Given the description of an element on the screen output the (x, y) to click on. 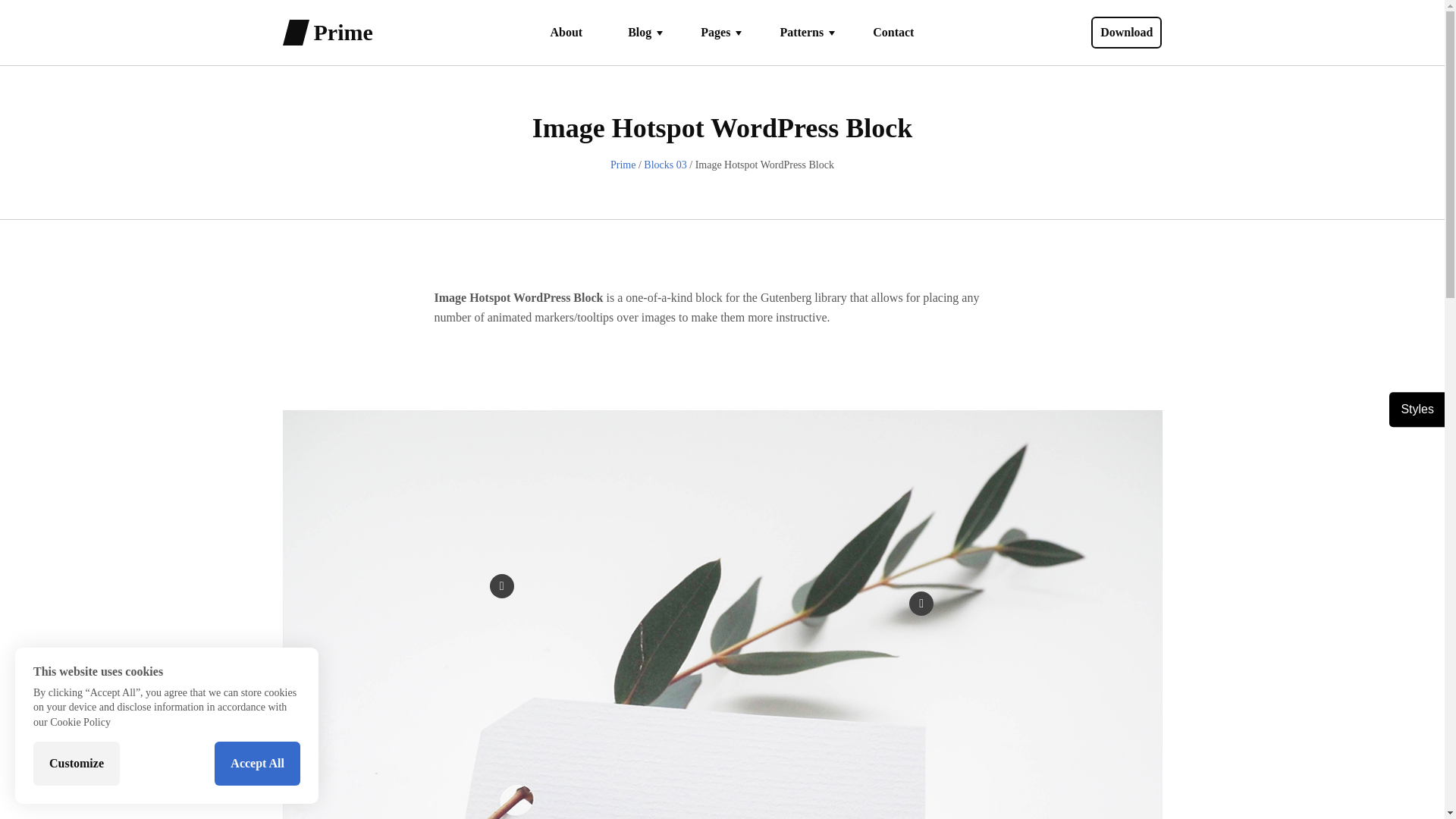
Go to Blocks 03. (664, 164)
Go to Prime. (622, 164)
Prime (343, 32)
Blog (632, 32)
Pages (709, 32)
About (566, 32)
